Given the description of an element on the screen output the (x, y) to click on. 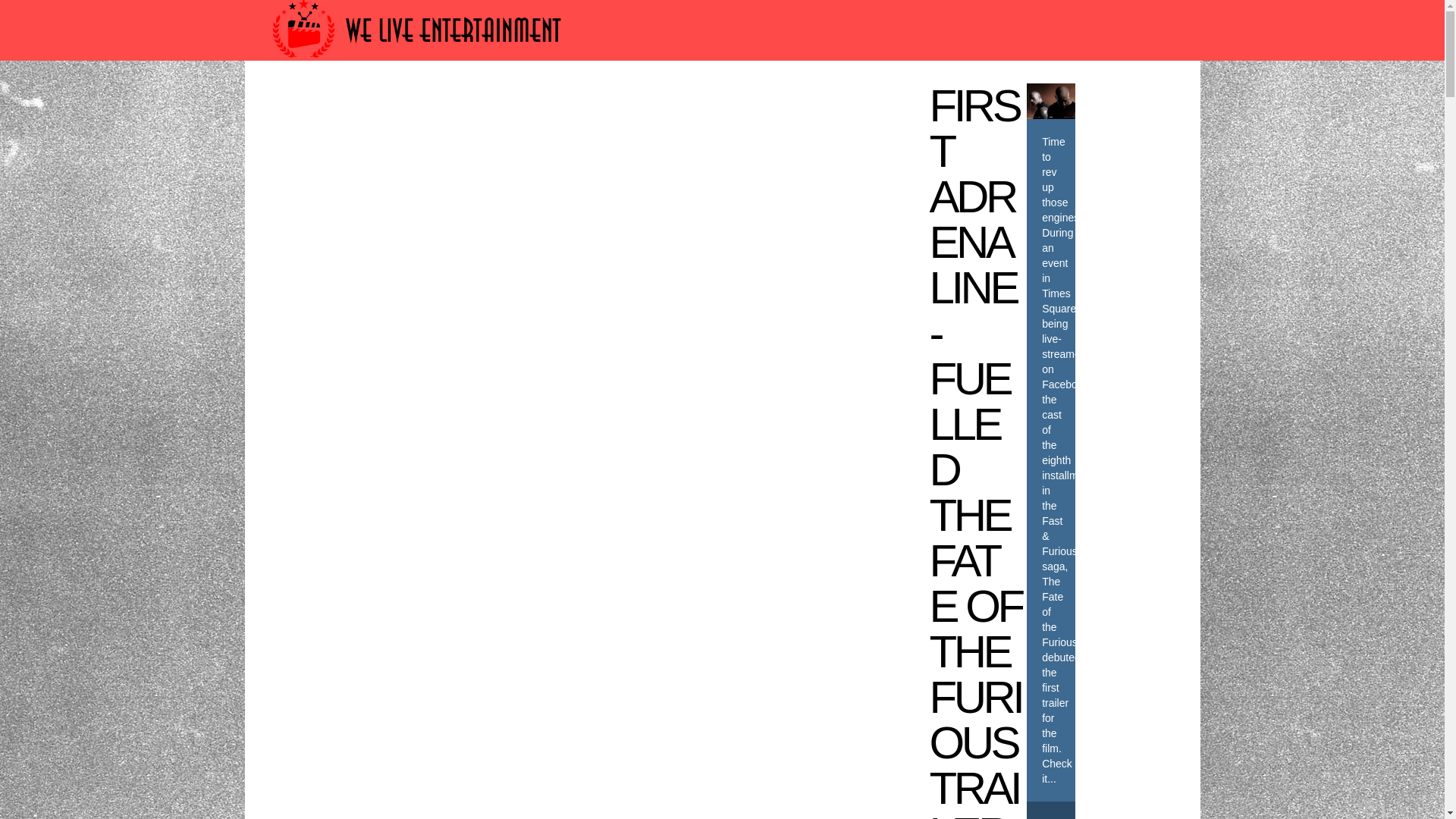
WE LIVE AWARDS (421, 103)
WE LIVE ENTERTAINMENT (841, 103)
WE LIVE TV SHOWS (671, 103)
We Live Entertainment (418, 63)
WE LIVE FILM (542, 103)
HOME (325, 103)
